Given the description of an element on the screen output the (x, y) to click on. 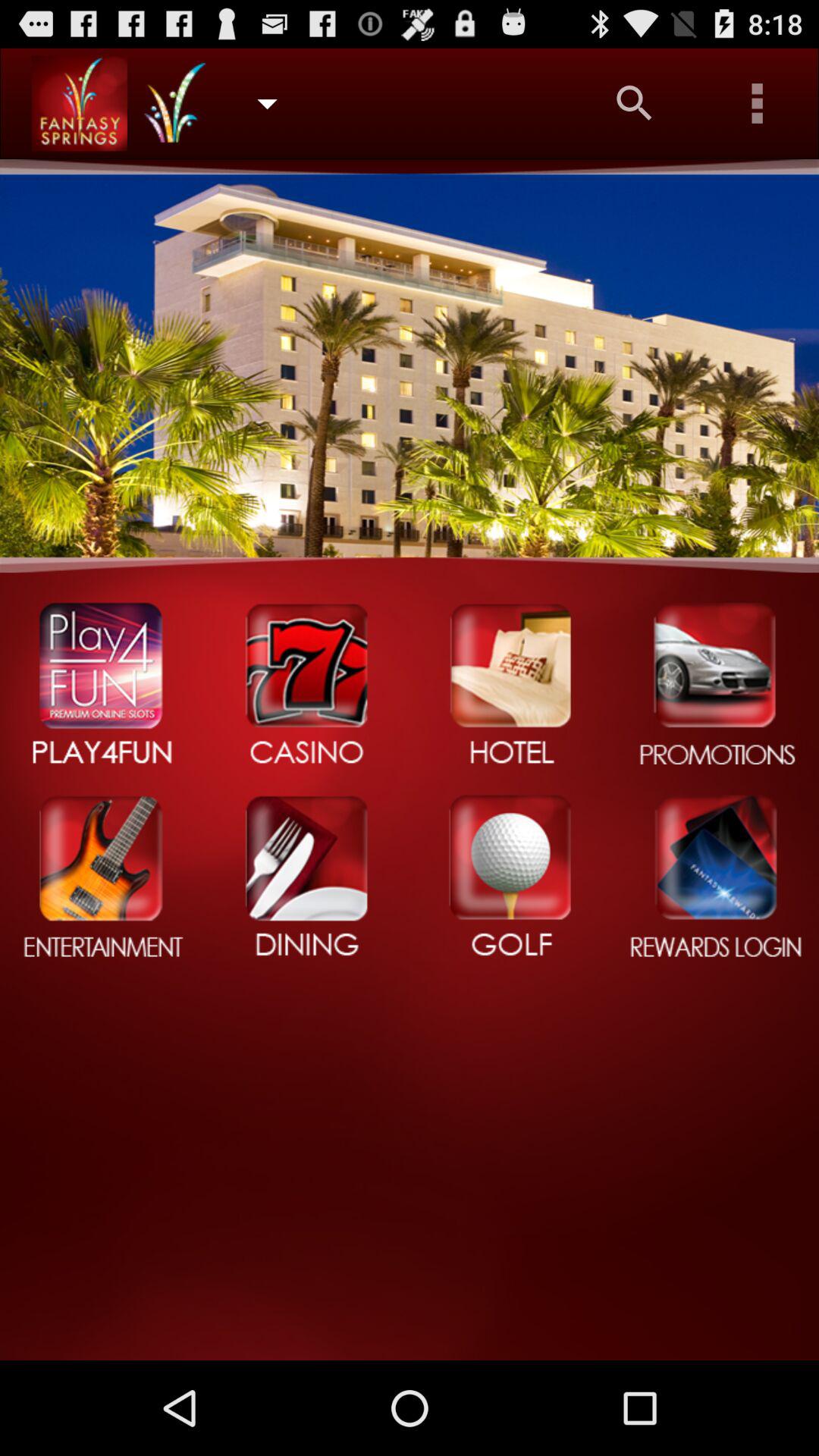
3 dots menu (757, 103)
